Given the description of an element on the screen output the (x, y) to click on. 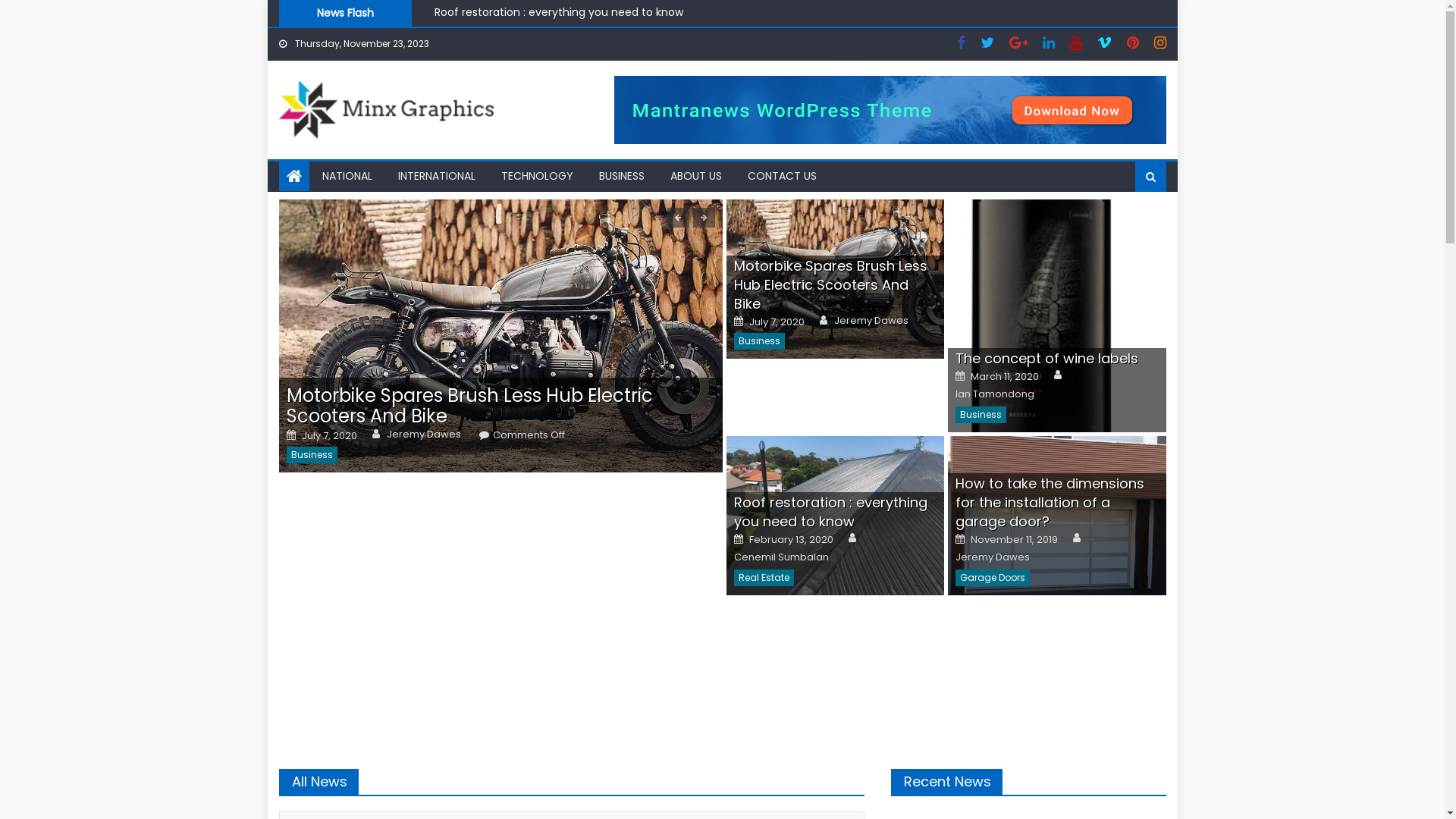
Motorbike Spares Brush Less Hub Electric Scooters And Bike Element type: hover (835, 278)
November 11, 2019 Element type: text (1013, 539)
Motorbike Spares Brush Less Hub Electric Scooters And Bike Element type: text (469, 405)
February 13, 2020 Element type: text (791, 539)
The concept of wine labels Element type: text (506, 13)
Cenemil Sumbalan Element type: text (781, 557)
Business Element type: text (759, 340)
Skip to content Element type: text (307, 9)
INTERNATIONAL Element type: text (436, 175)
Motorbike Spares Brush Less Hub Electric Scooters And Bike Element type: hover (500, 335)
Motorbike Spares Brush Less Hub Electric Scooters And Bike Element type: text (830, 284)
Ian Tamondong Element type: text (994, 394)
Business Element type: text (311, 454)
Jeremy Dawes Element type: text (992, 557)
Search Element type: text (1128, 224)
March 11, 2020 Element type: text (1004, 376)
Jeremy Dawes Element type: text (423, 434)
July 7, 2020 Element type: text (329, 435)
Garage Doors Element type: text (992, 577)
July 7, 2020 Element type: text (776, 322)
Roof restoration : everything you need to know Element type: hover (835, 515)
TECHNOLOGY Element type: text (536, 175)
BUSINESS Element type: text (620, 175)
The concept of wine labels Element type: hover (1056, 315)
Roof restoration : everything you need to know Element type: text (830, 511)
The concept of wine labels Element type: text (1046, 357)
NATIONAL Element type: text (346, 175)
Business Element type: text (980, 414)
Jeremy Dawes Element type: text (871, 320)
ABOUT US Element type: text (695, 175)
Real Estate Element type: text (763, 577)
CONTACT US Element type: text (781, 175)
